Given the description of an element on the screen output the (x, y) to click on. 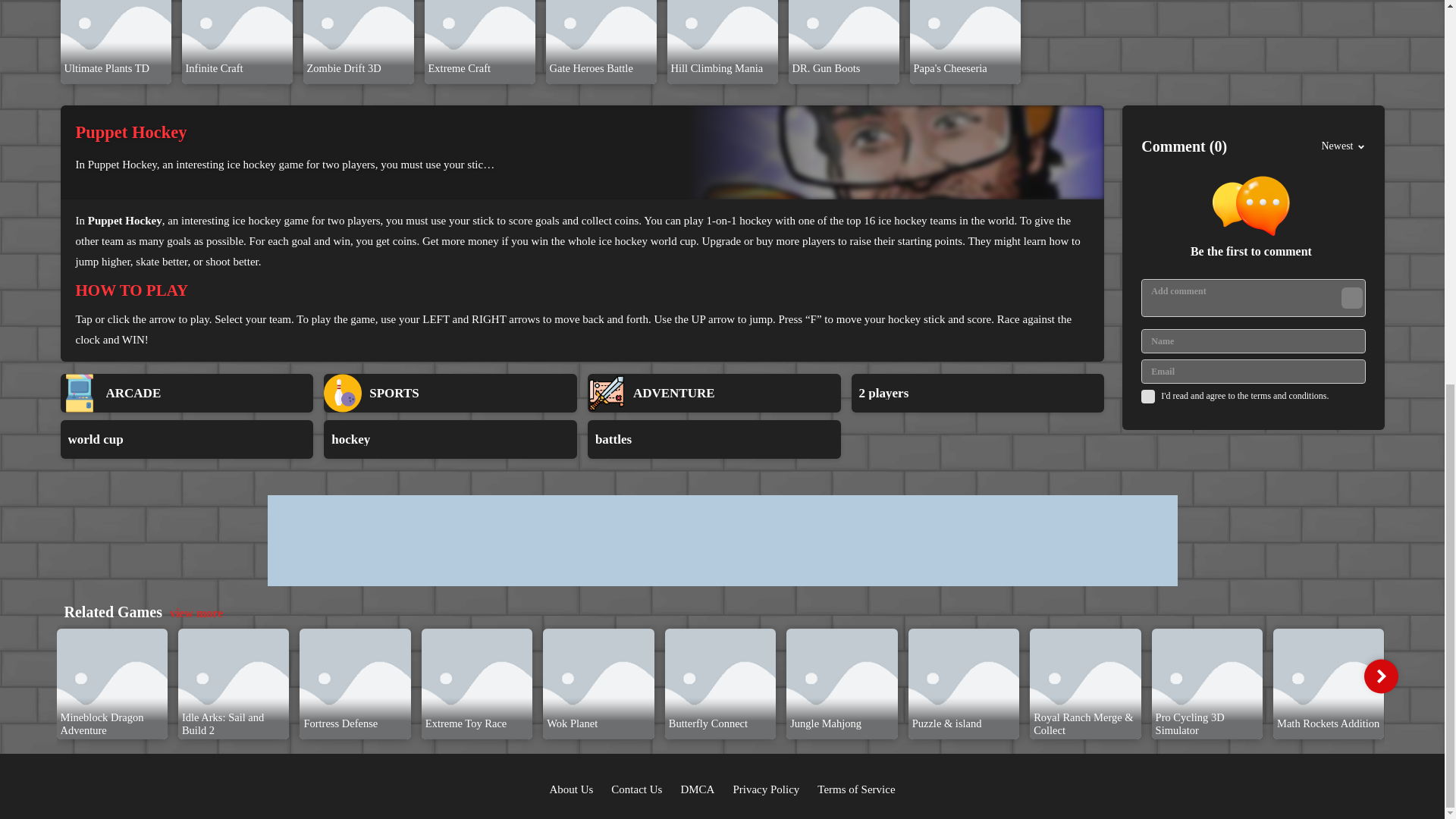
Be the first to comment (1257, 218)
